Given the description of an element on the screen output the (x, y) to click on. 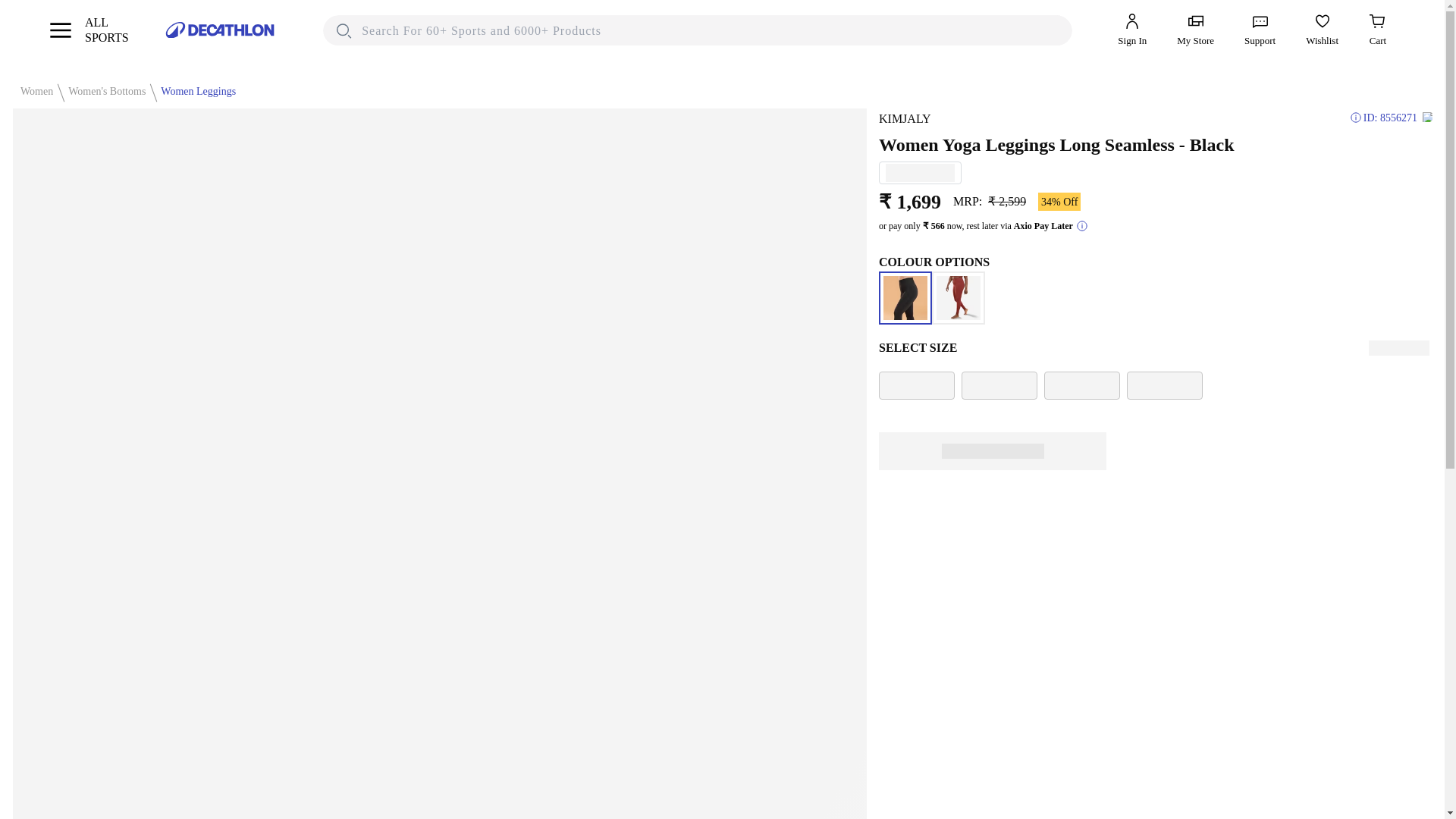
Women Yoga Leggings Long Seamless  - Black (905, 297)
Wishlist (1322, 30)
My Store (1195, 30)
Women'S Bottoms (103, 90)
Women Yoga Leggings Long Seamless Burgundy (958, 297)
Women (32, 90)
Women Leggings (88, 30)
